Given the description of an element on the screen output the (x, y) to click on. 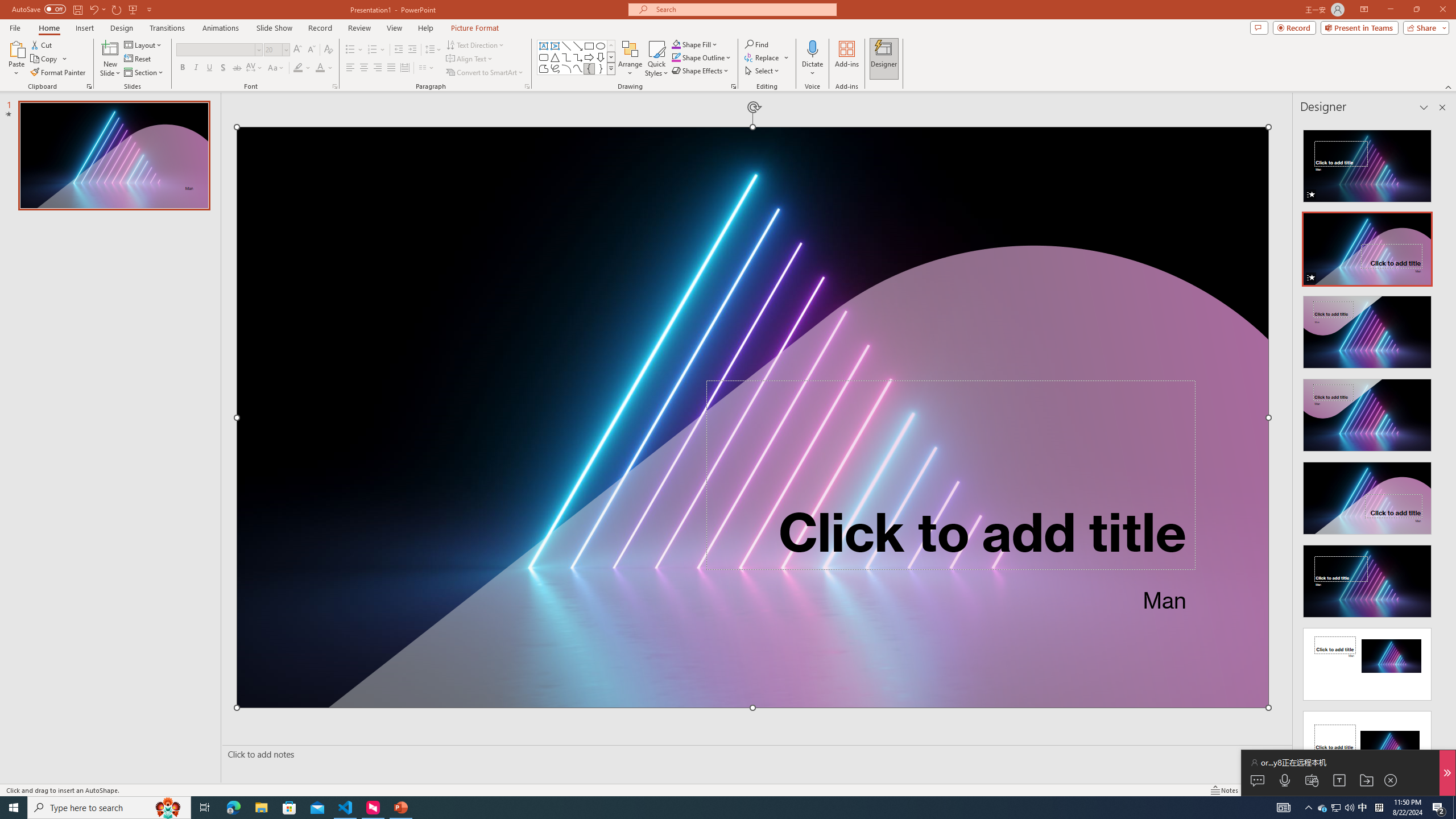
Picture Format (475, 28)
